Given the description of an element on the screen output the (x, y) to click on. 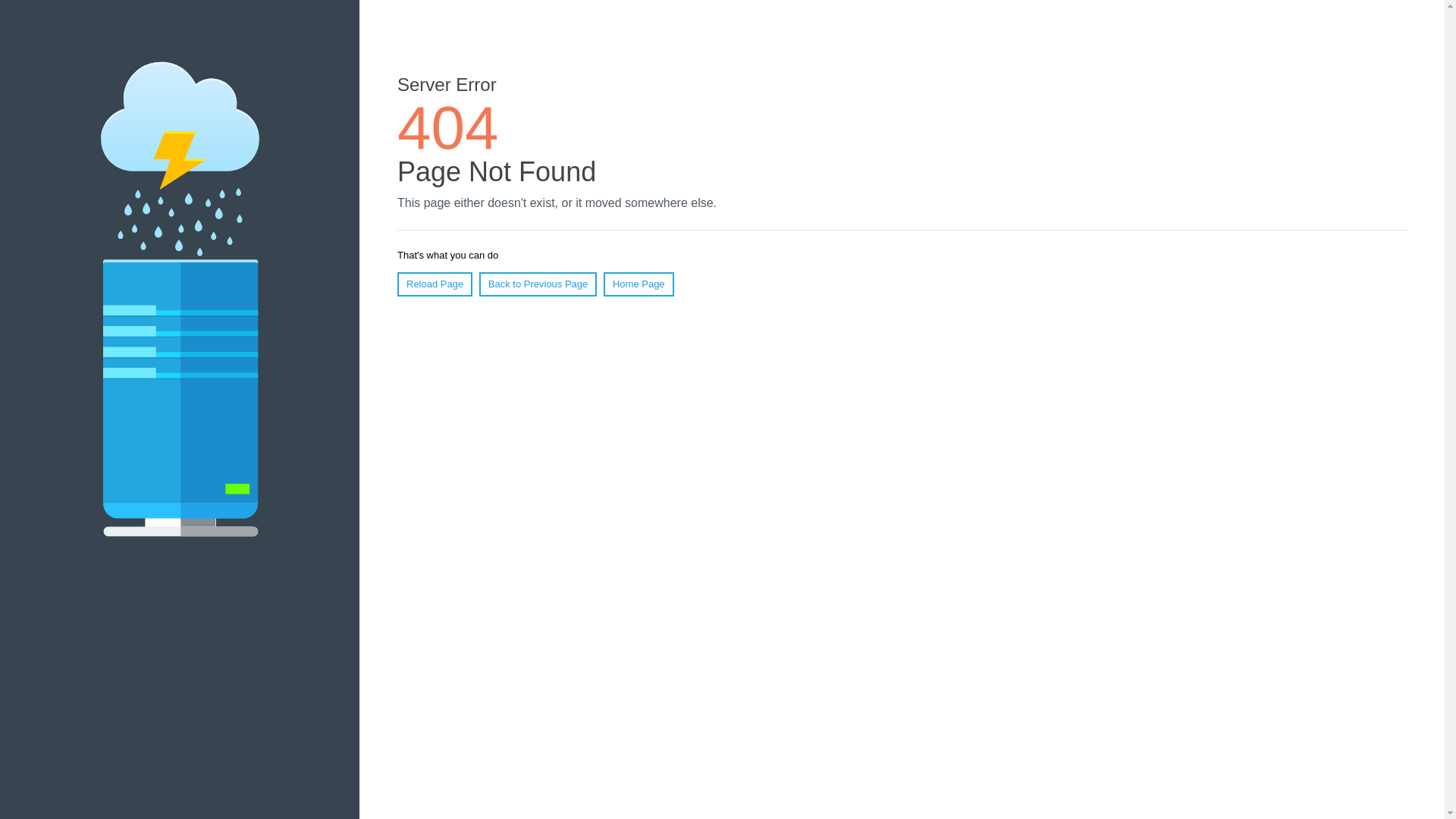
Home Page Element type: text (638, 284)
Reload Page Element type: text (434, 284)
Back to Previous Page Element type: text (538, 284)
